Given the description of an element on the screen output the (x, y) to click on. 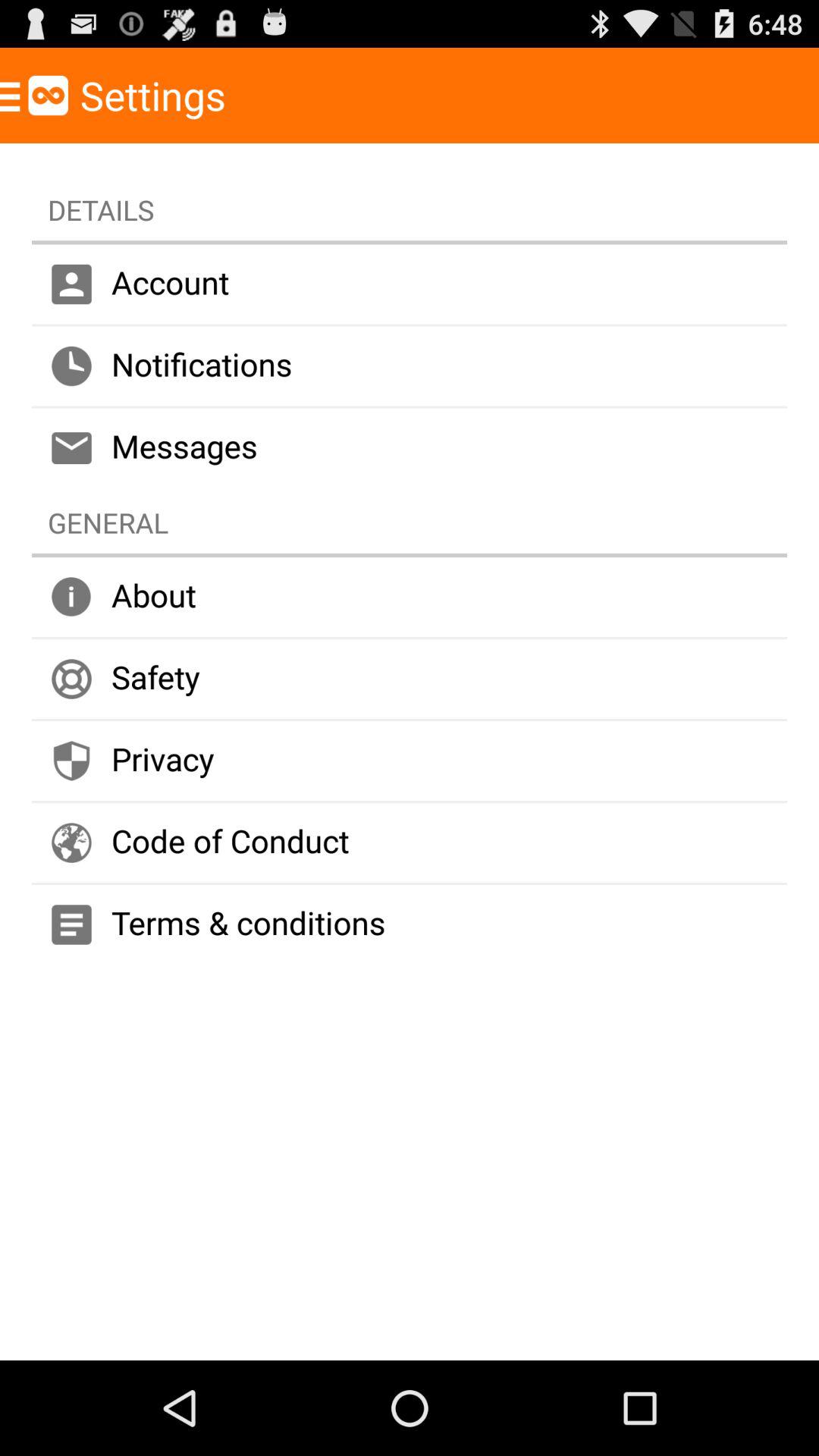
press icon above the general icon (409, 447)
